Given the description of an element on the screen output the (x, y) to click on. 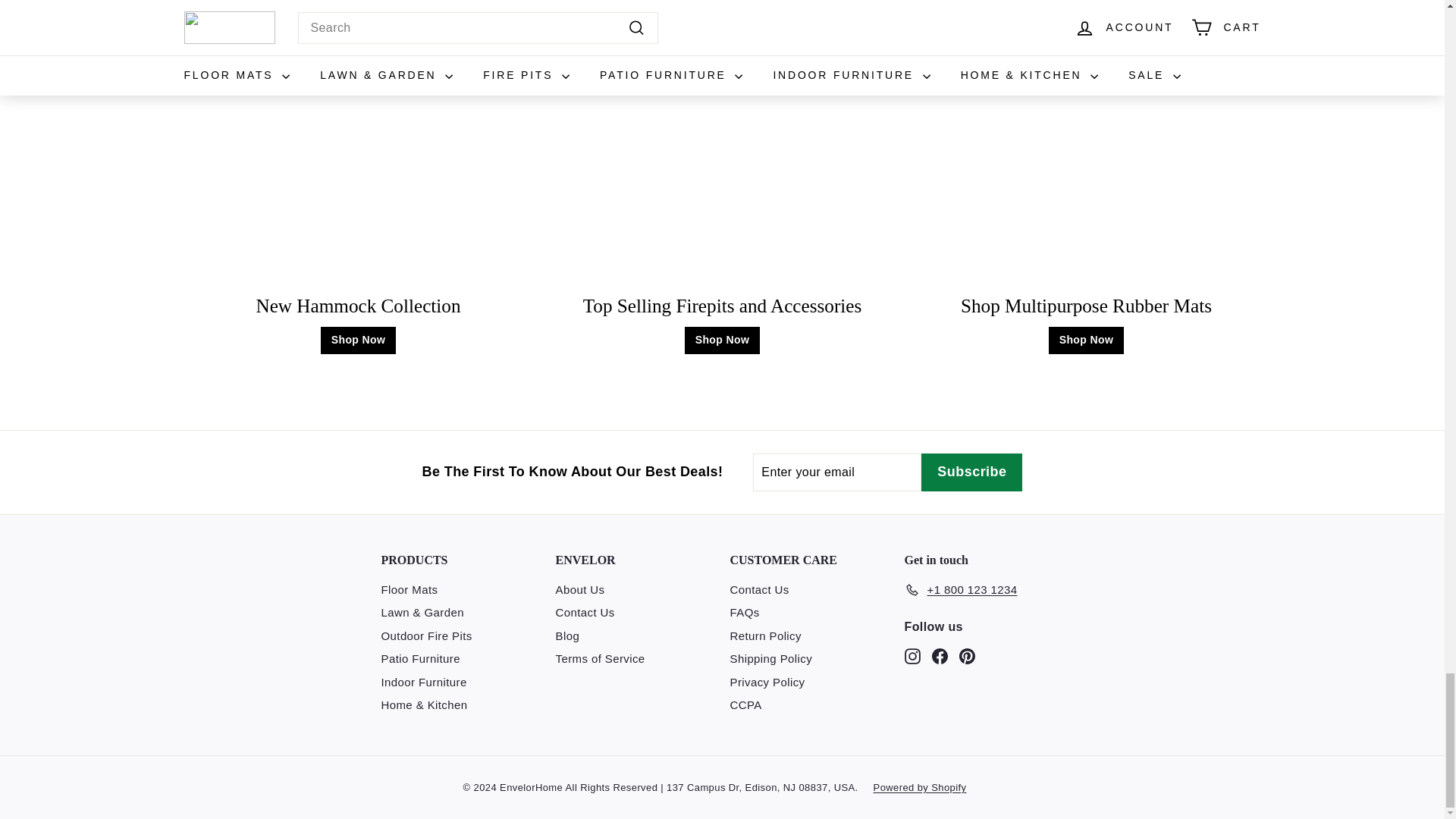
EnvelorHome on Facebook (939, 656)
instagram (912, 656)
EnvelorHome on Pinterest (966, 656)
EnvelorHome on Instagram (912, 656)
